Given the description of an element on the screen output the (x, y) to click on. 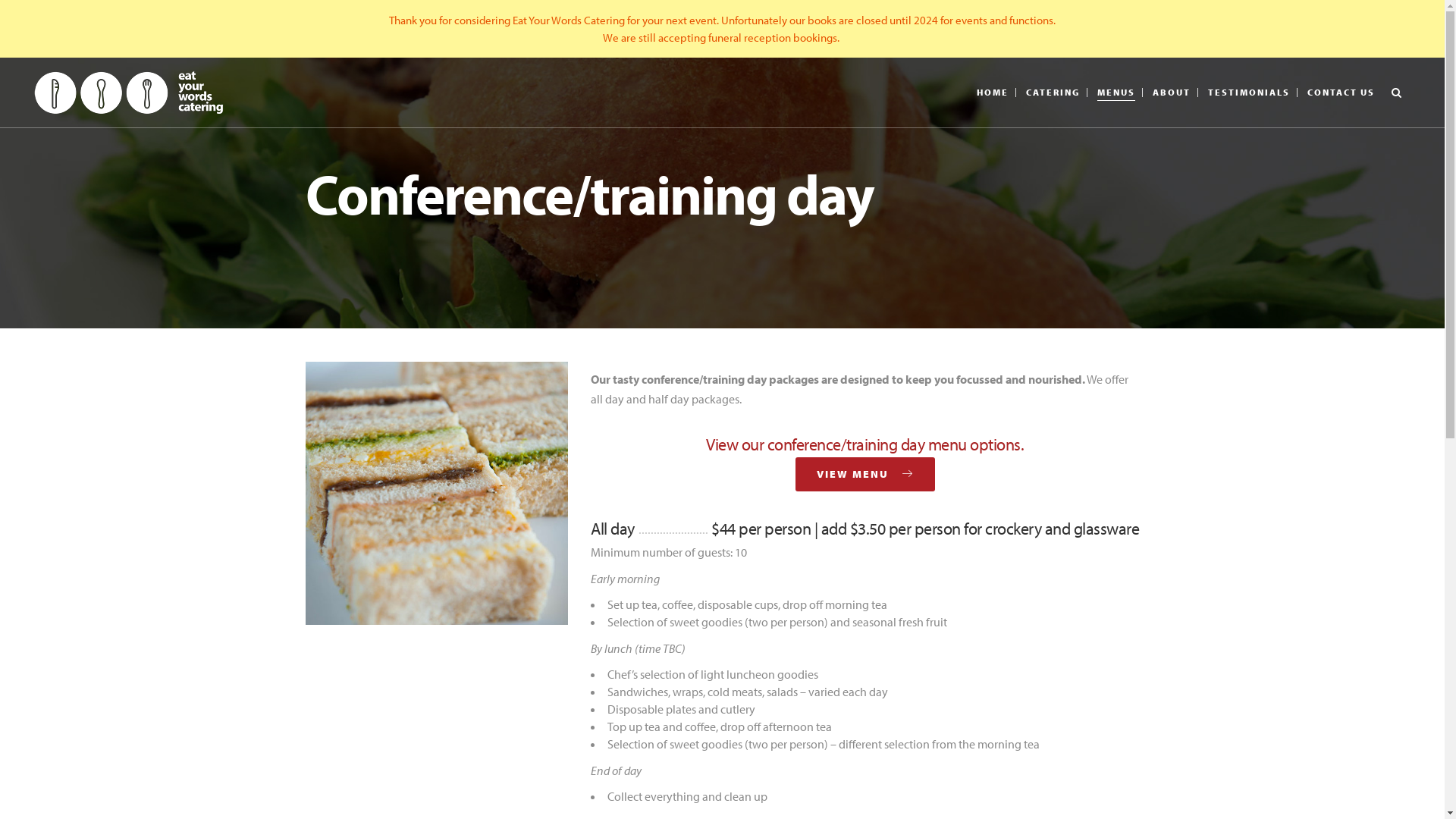
OPF Consulting Element type: text (1280, 708)
TESTIMONIALS Element type: text (1248, 92)
CATERING Element type: text (1052, 92)
CONTACT US Element type: text (1340, 92)
VIEW MENU Element type: text (865, 474)
Import Element type: text (1384, 56)
Fridge Design Studio Element type: text (1210, 701)
Facebook Element type: text (885, 701)
Social Media Element type: text (885, 664)
ABOUT Element type: text (1171, 92)
Instagram Element type: text (885, 731)
info@eatyourwords.com.au
Phone: 0412 692 060 Element type: text (497, 701)
HOME Element type: text (992, 92)
MENUS Element type: text (1115, 92)
